Given the description of an element on the screen output the (x, y) to click on. 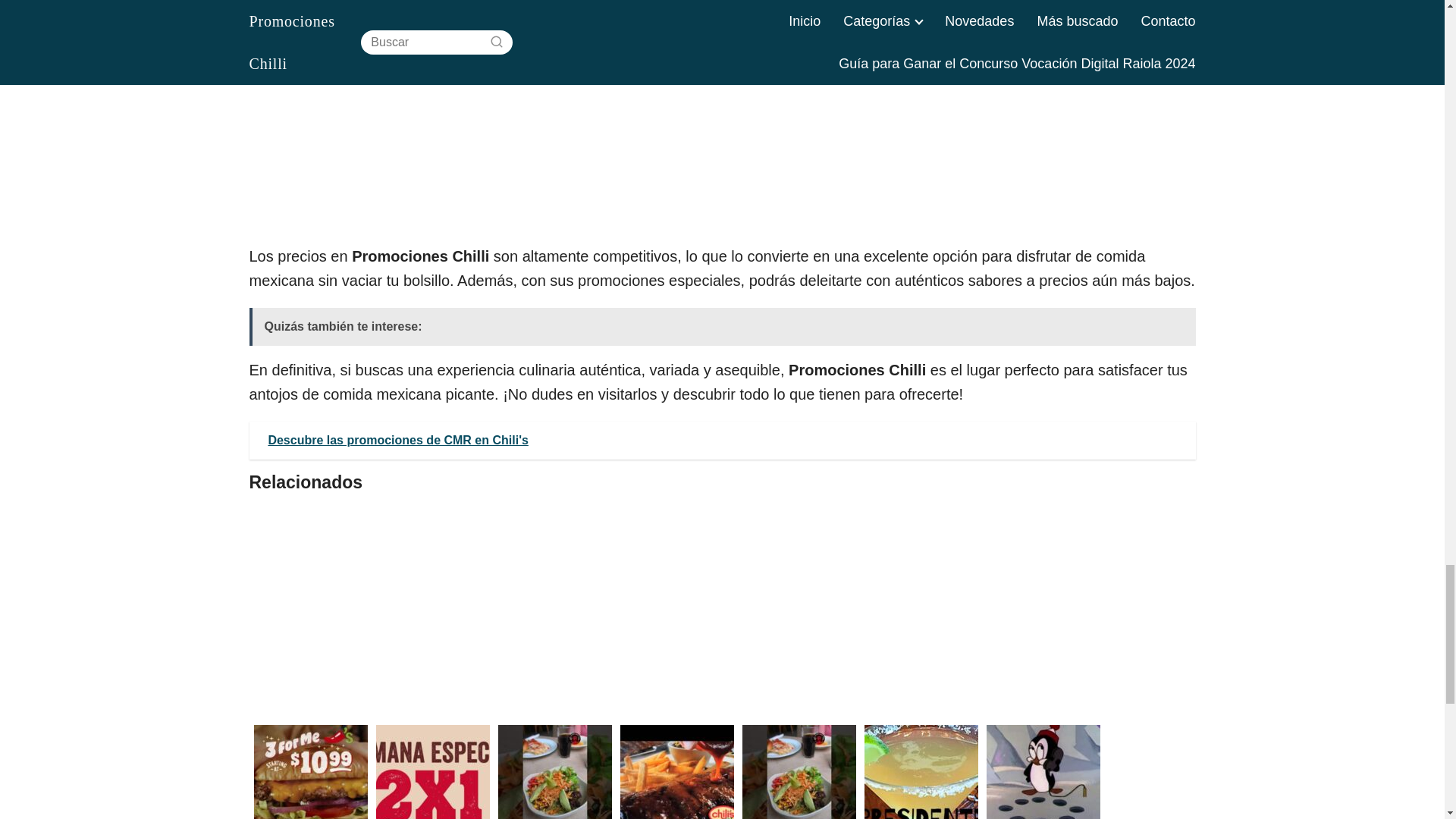
  Descubre las promociones de CMR en Chili's (721, 440)
Descubre las mejores promociones de Chilis en Puebla (676, 769)
Descubre las mejores promociones de ventas de chillis (798, 769)
Descubre las mejores promociones de Chillis en Pachuca (309, 769)
Descubre las mejores promociones de viernes en Chili's (554, 769)
